Given the description of an element on the screen output the (x, y) to click on. 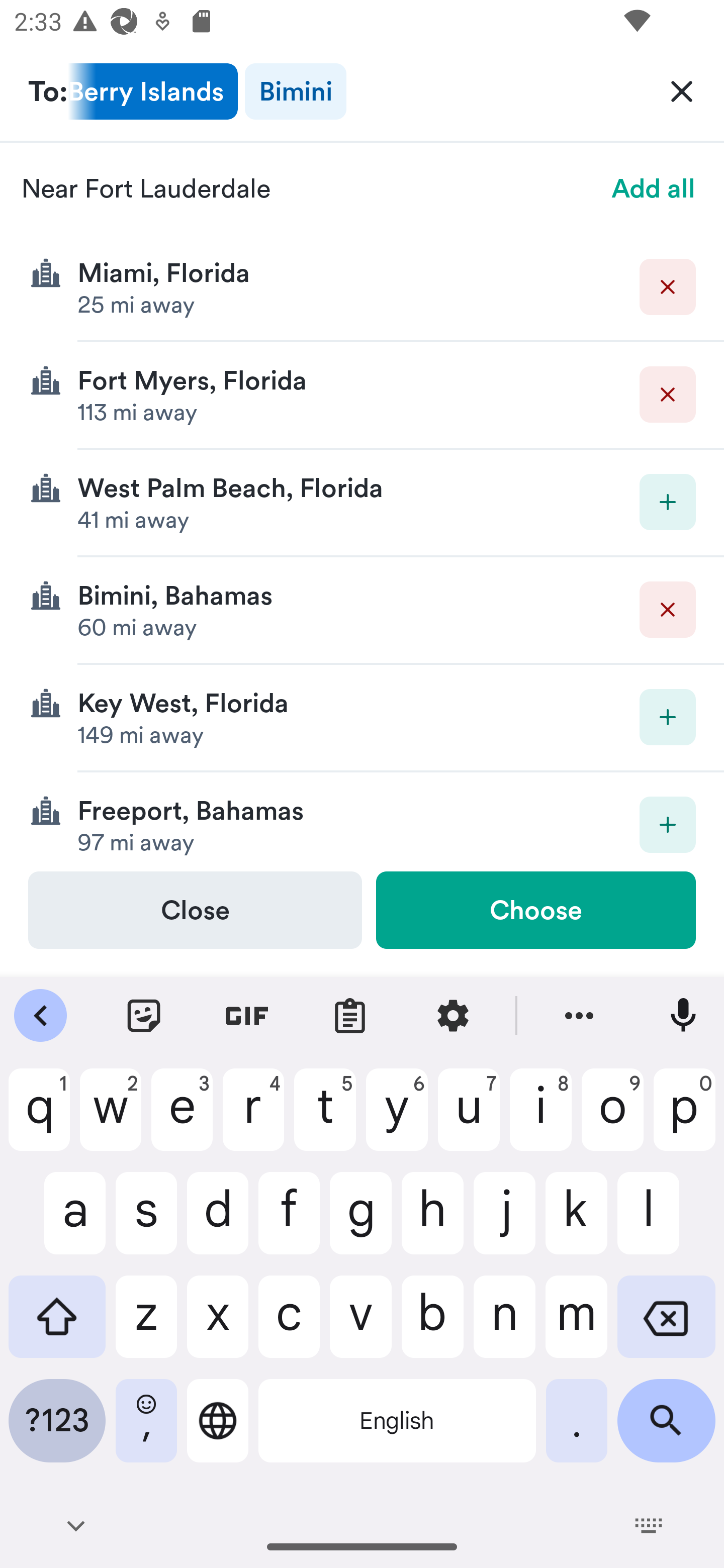
Clear All (681, 90)
Bimini (295, 91)
Add all (653, 187)
Delete Miami, Florida 25 mi away (362, 287)
Delete (667, 286)
Delete Fort Myers, Florida 113 mi away (362, 395)
Delete (667, 394)
Add destination (667, 501)
Delete Bimini, Bahamas 60 mi away (362, 610)
Delete (667, 609)
Add destination Key West, Florida 149 mi away (362, 717)
Add destination (667, 716)
Add destination Freeport, Bahamas 97 mi away (362, 821)
Add destination (667, 824)
Close (195, 909)
Choose (535, 909)
